Given the description of an element on the screen output the (x, y) to click on. 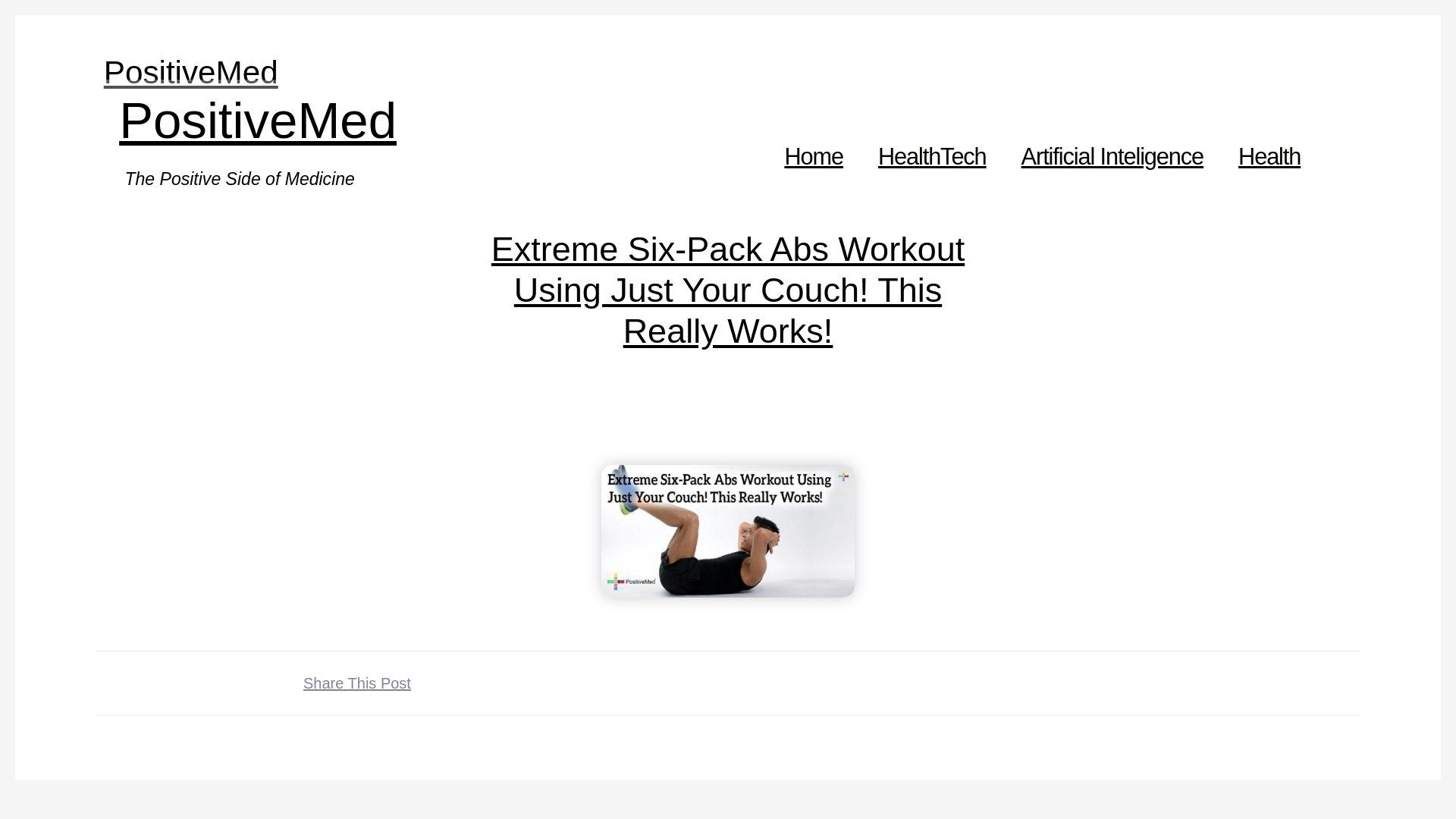
Artificial Inteligence (1111, 156)
Home (812, 156)
Health (1268, 156)
PositiveMed (190, 72)
HealthTech (932, 156)
